Given the description of an element on the screen output the (x, y) to click on. 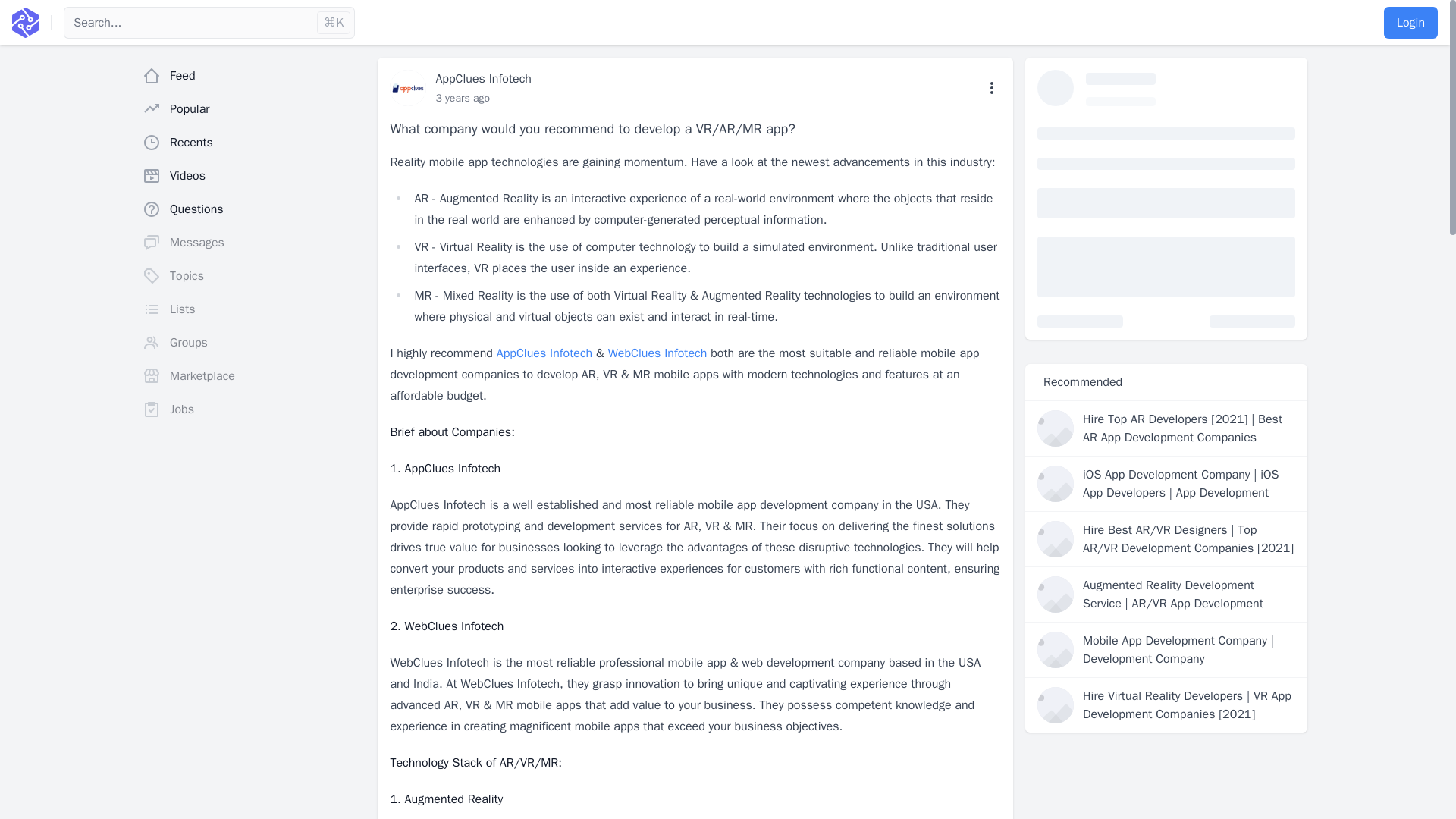
Feed (253, 75)
WebClues Infotech (657, 353)
Open options (991, 87)
AppClues Infotech (483, 78)
AppClues Infotech (544, 353)
WebClues Infotech (657, 353)
Recents (253, 142)
Videos (253, 175)
3 years ago (462, 97)
AppClues Infotech (544, 353)
